Given the description of an element on the screen output the (x, y) to click on. 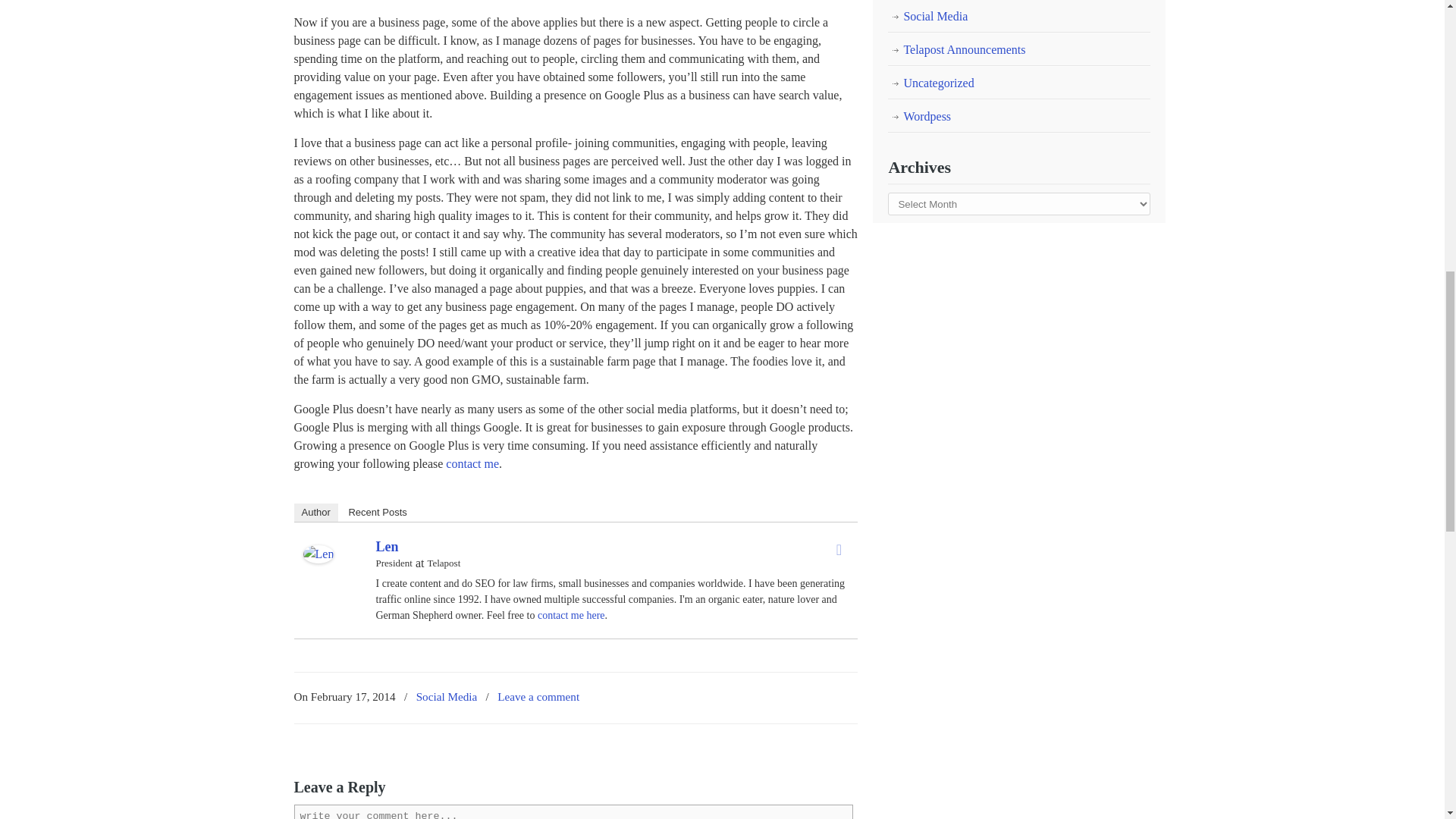
Twitter (838, 549)
Leave a comment (538, 696)
Recent Posts (376, 512)
contact me (472, 463)
Len (318, 558)
Author (315, 512)
contact  (472, 463)
contact me here (571, 614)
Len (386, 546)
Social Media (446, 696)
